Given the description of an element on the screen output the (x, y) to click on. 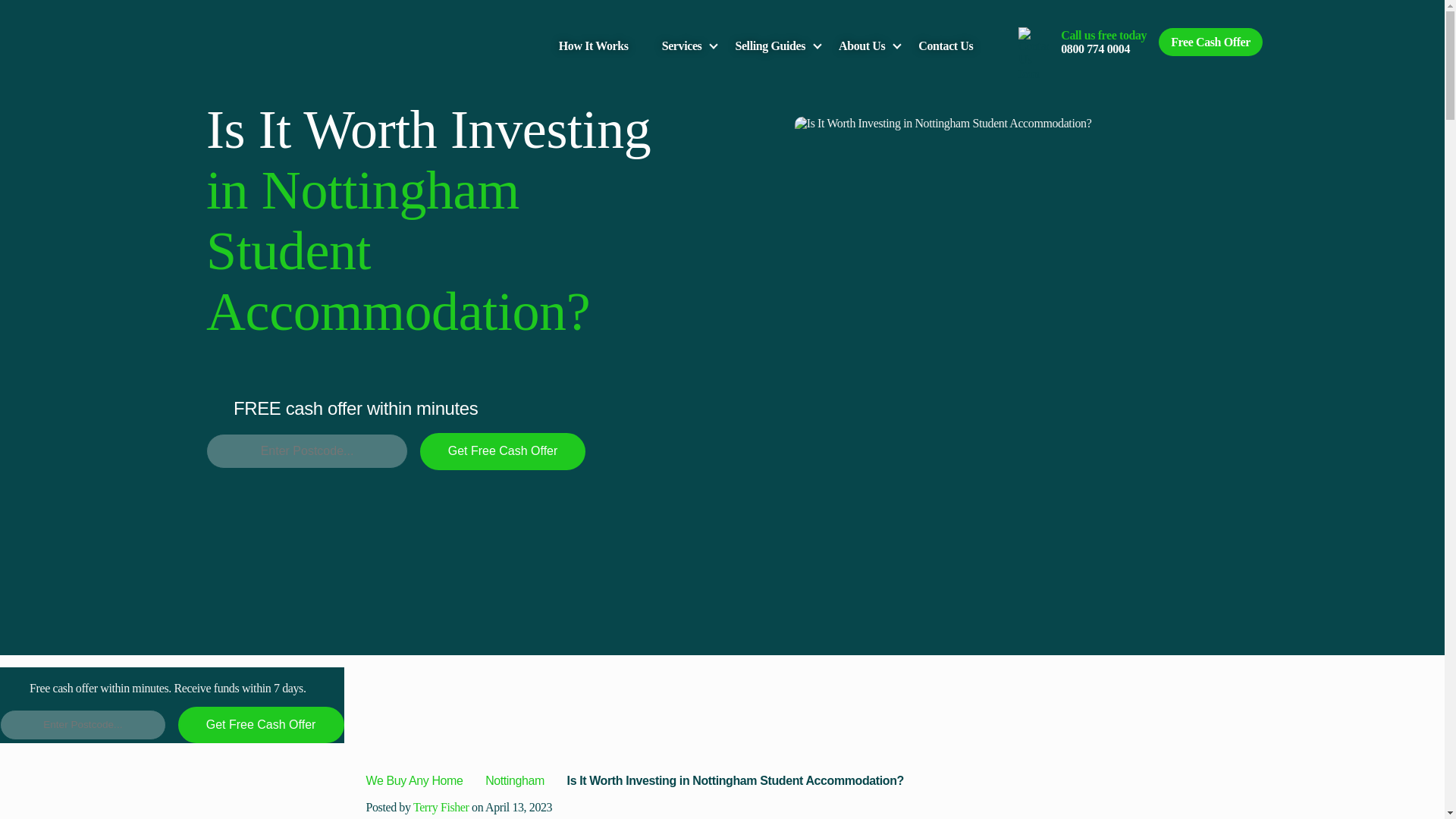
How It Works (593, 45)
Get Free Cash Offer (260, 724)
0800 774 0004 (1095, 48)
About Us (861, 45)
Get Free Cash Offer (502, 451)
Selling Guides (770, 45)
Free Cash Offer (1210, 41)
We Buy Any Home (414, 780)
Services (681, 45)
Nottingham (515, 780)
